Given the description of an element on the screen output the (x, y) to click on. 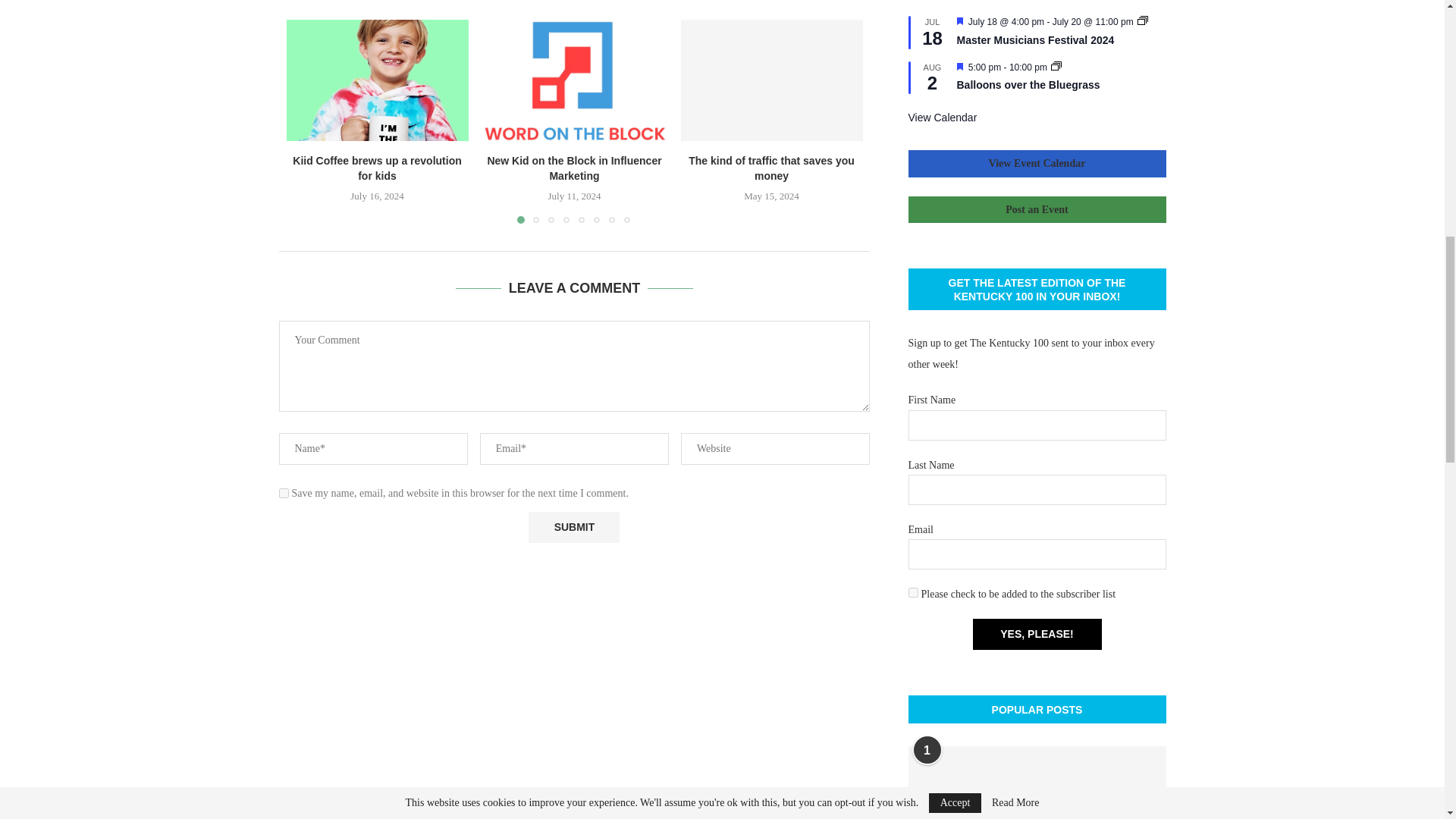
Event Series (1142, 20)
yes (283, 492)
YES, PLEASE! (1036, 634)
Submit (574, 526)
Event Series (1056, 65)
1 (913, 592)
